Given the description of an element on the screen output the (x, y) to click on. 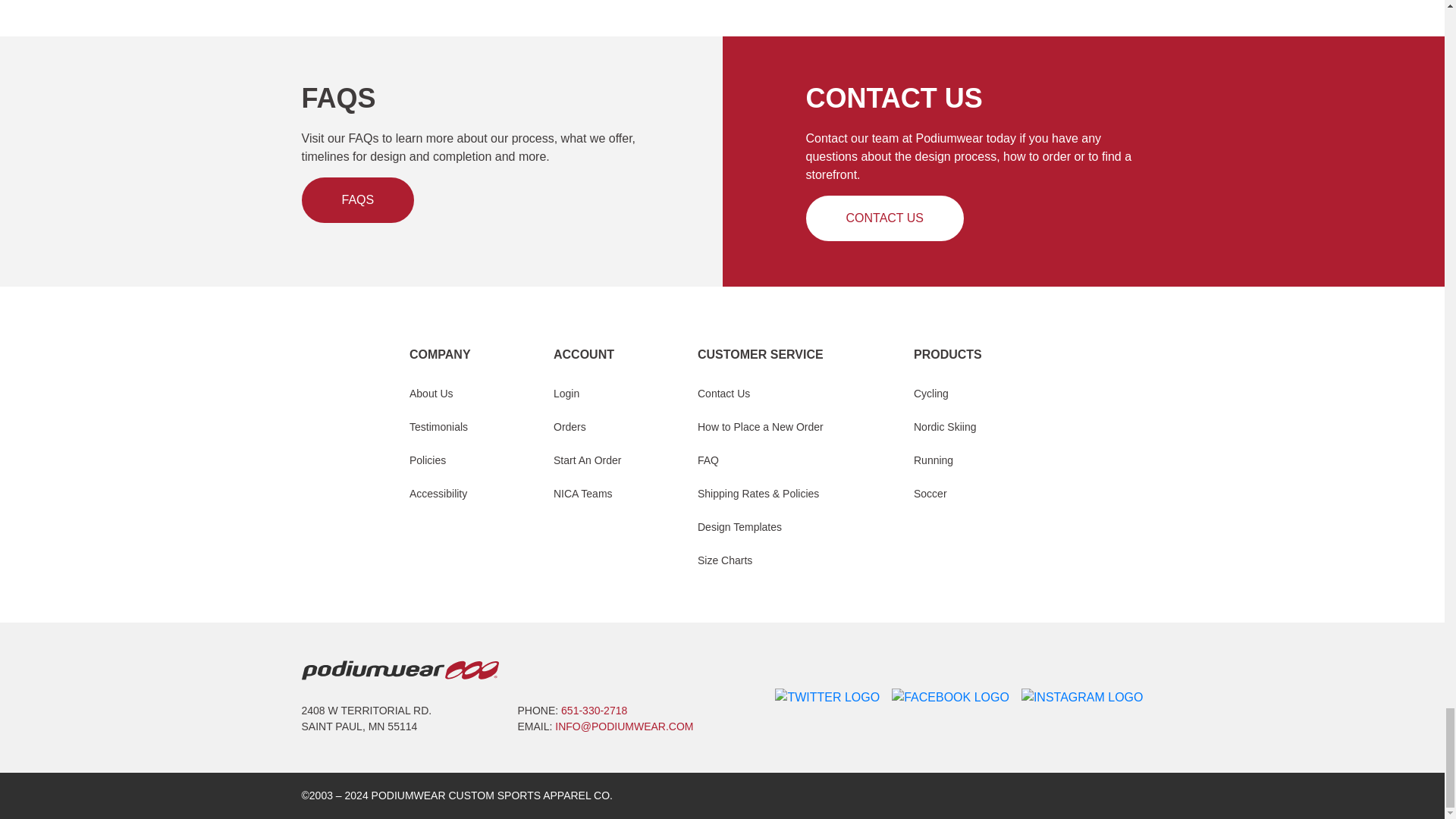
Testimonials (438, 426)
FAQS (357, 199)
About Us (430, 393)
CONTACT US (884, 217)
